Given the description of an element on the screen output the (x, y) to click on. 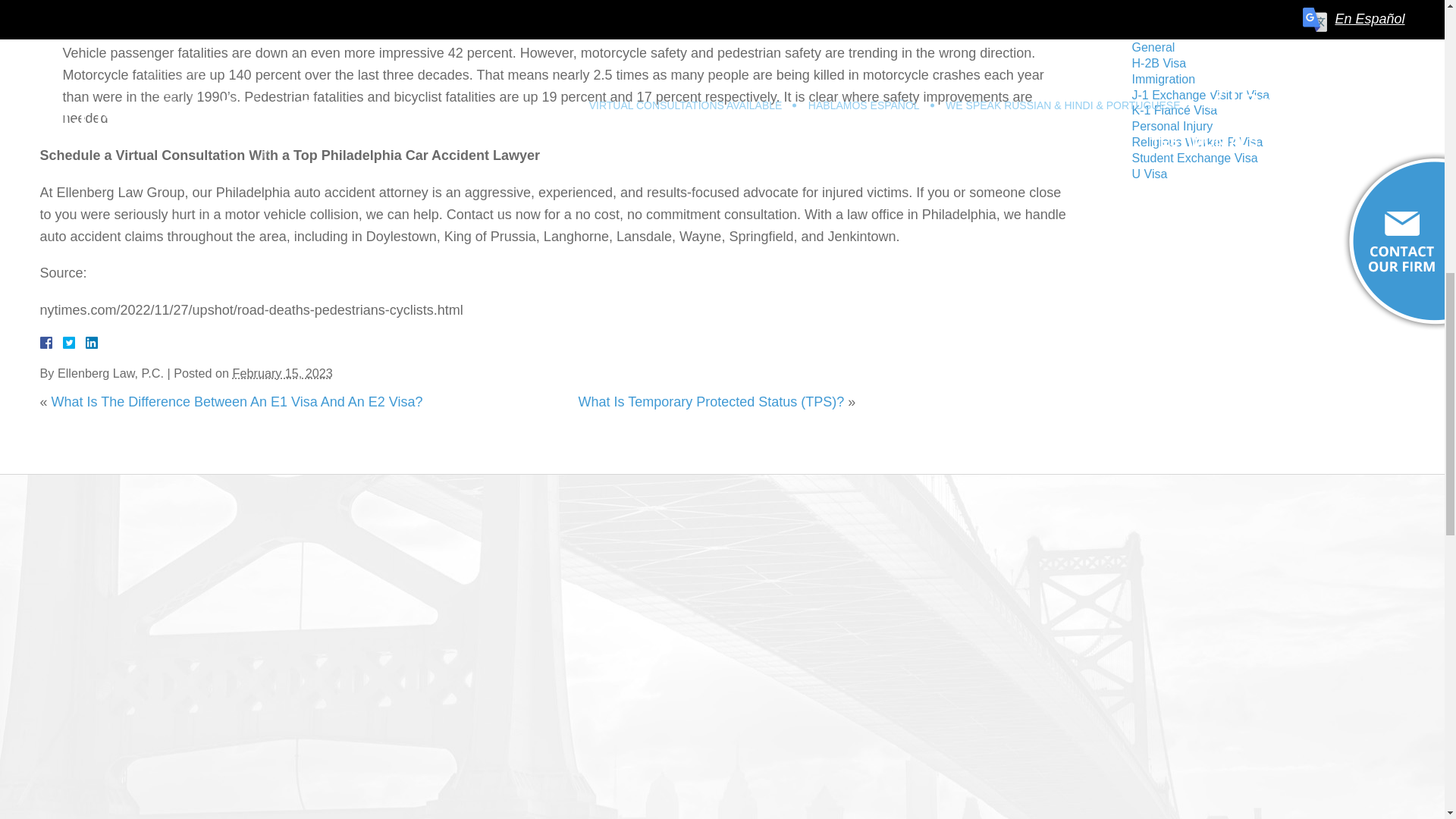
Twitter (74, 342)
LinkedIn (85, 342)
2023-02-15T03:00:22-0800 (282, 373)
Facebook (63, 342)
